Given the description of an element on the screen output the (x, y) to click on. 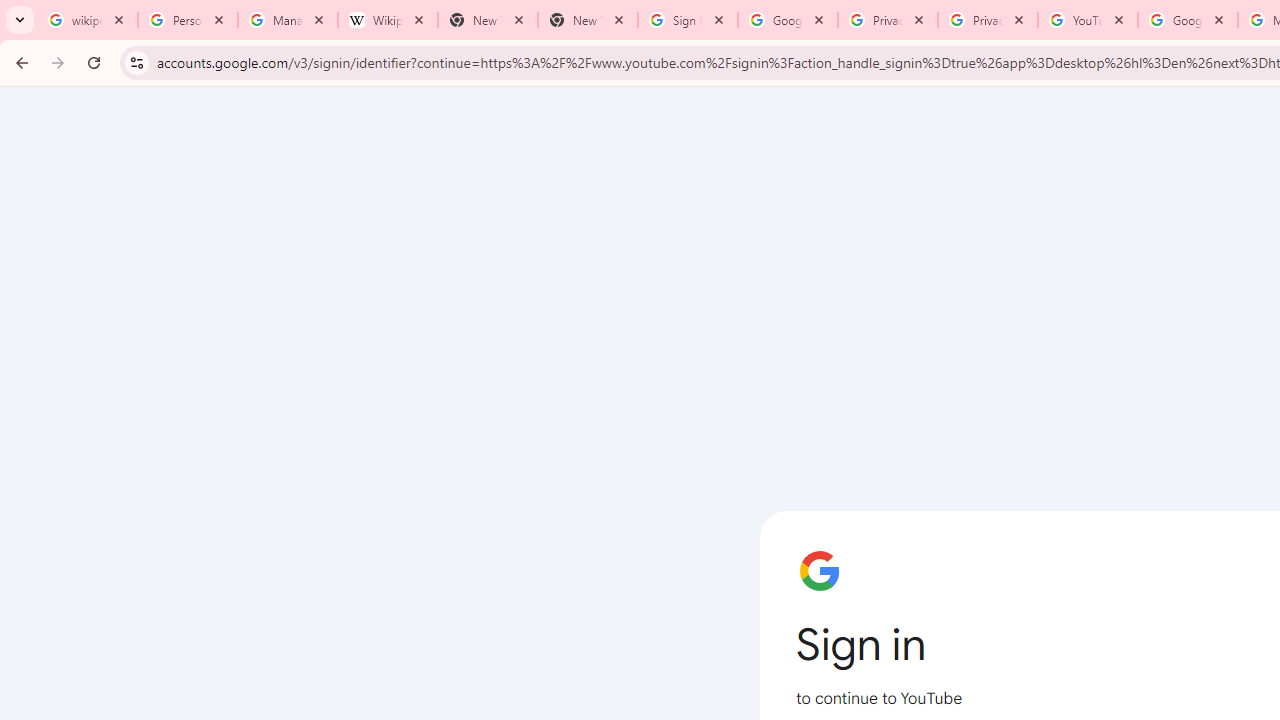
Manage your Location History - Google Search Help (287, 20)
Google Account Help (1187, 20)
Sign in - Google Accounts (687, 20)
New Tab (587, 20)
New Tab (487, 20)
YouTube (1087, 20)
Personalization & Google Search results - Google Search Help (188, 20)
